Given the description of an element on the screen output the (x, y) to click on. 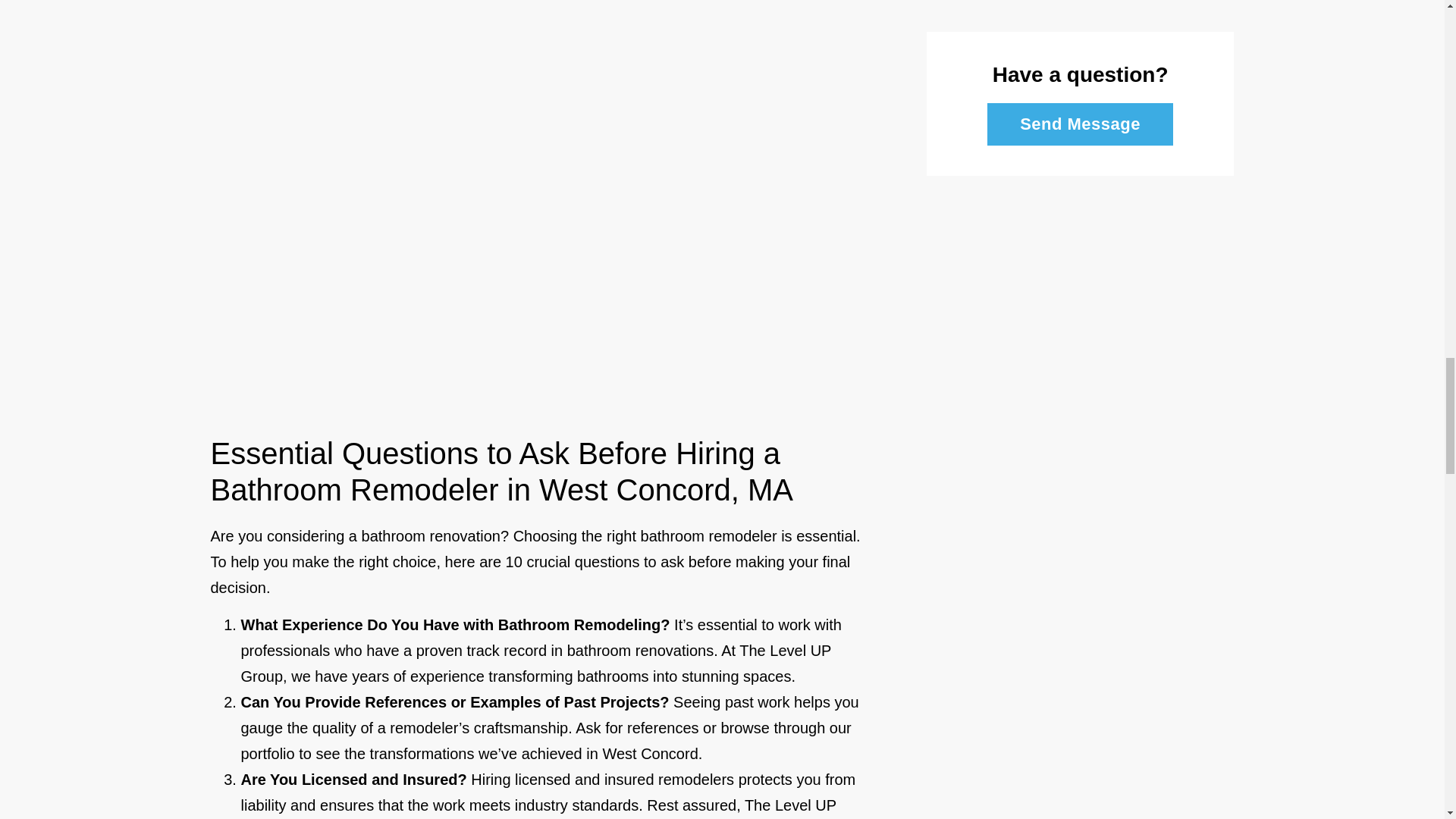
Send Message (1080, 124)
